Given the description of an element on the screen output the (x, y) to click on. 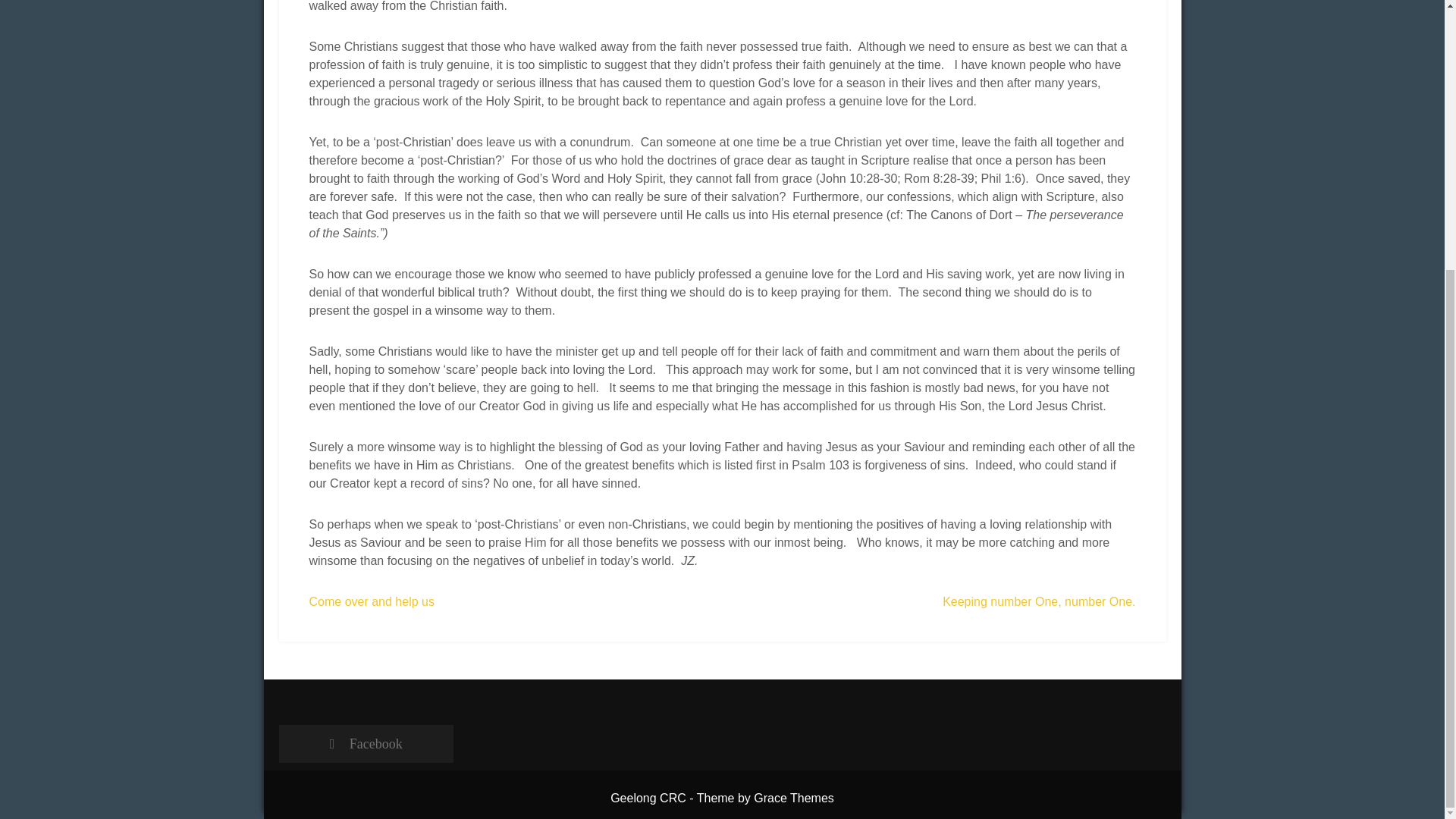
Facebook (365, 743)
Keeping number One, number One. (1038, 601)
Come over and help us (370, 601)
Facebook (365, 743)
